Given the description of an element on the screen output the (x, y) to click on. 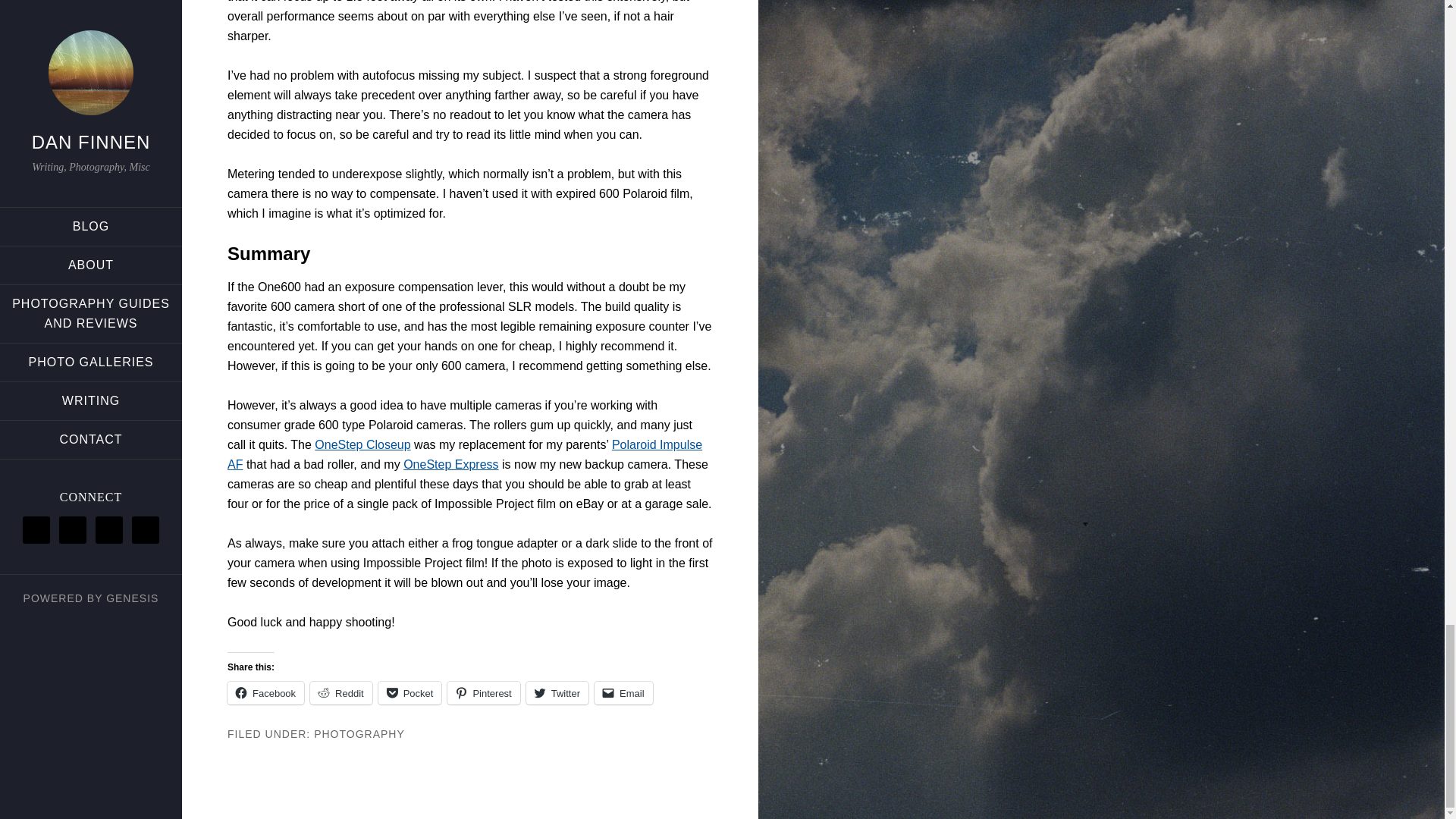
Click to share on Facebook (265, 692)
Click to share on Twitter (556, 692)
Pocket (410, 692)
Facebook (265, 692)
Click to email a link to a friend (623, 692)
Pinterest (482, 692)
Polaroid Impulse AF (464, 454)
PHOTOGRAPHY (359, 734)
Twitter (556, 692)
Reddit (341, 692)
Click to share on Pinterest (482, 692)
Email (623, 692)
OneStep Closeup (362, 444)
Click to share on Pocket (410, 692)
Click to share on Reddit (341, 692)
